Given the description of an element on the screen output the (x, y) to click on. 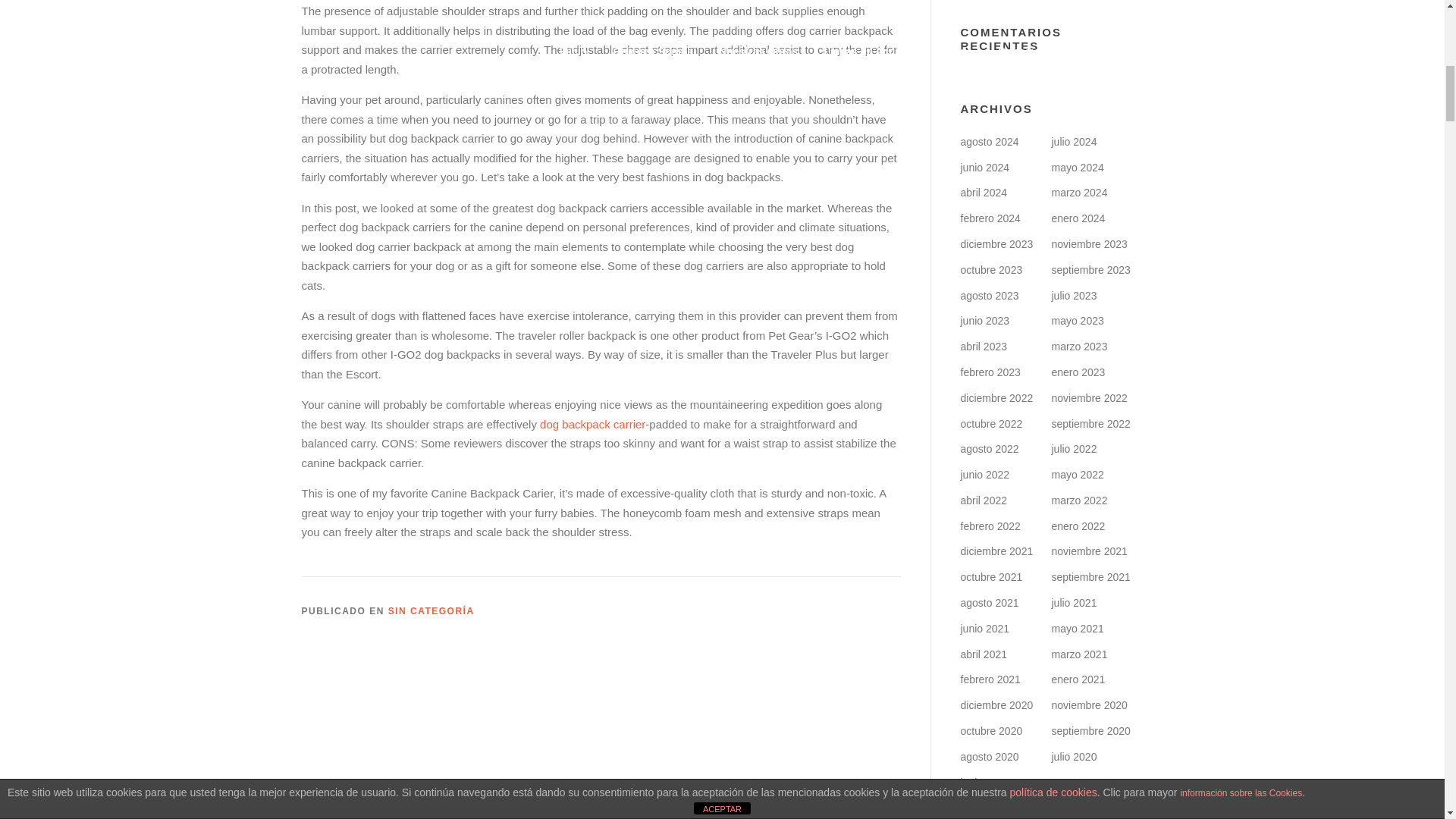
agosto 2023 (988, 295)
octubre 2023 (990, 269)
junio 2023 (984, 320)
septiembre 2023 (1090, 269)
mayo 2024 (1077, 167)
agosto 2024 (988, 141)
abril 2023 (983, 346)
junio 2024 (984, 167)
abril 2024 (983, 192)
julio 2024 (1073, 141)
